Given the description of an element on the screen output the (x, y) to click on. 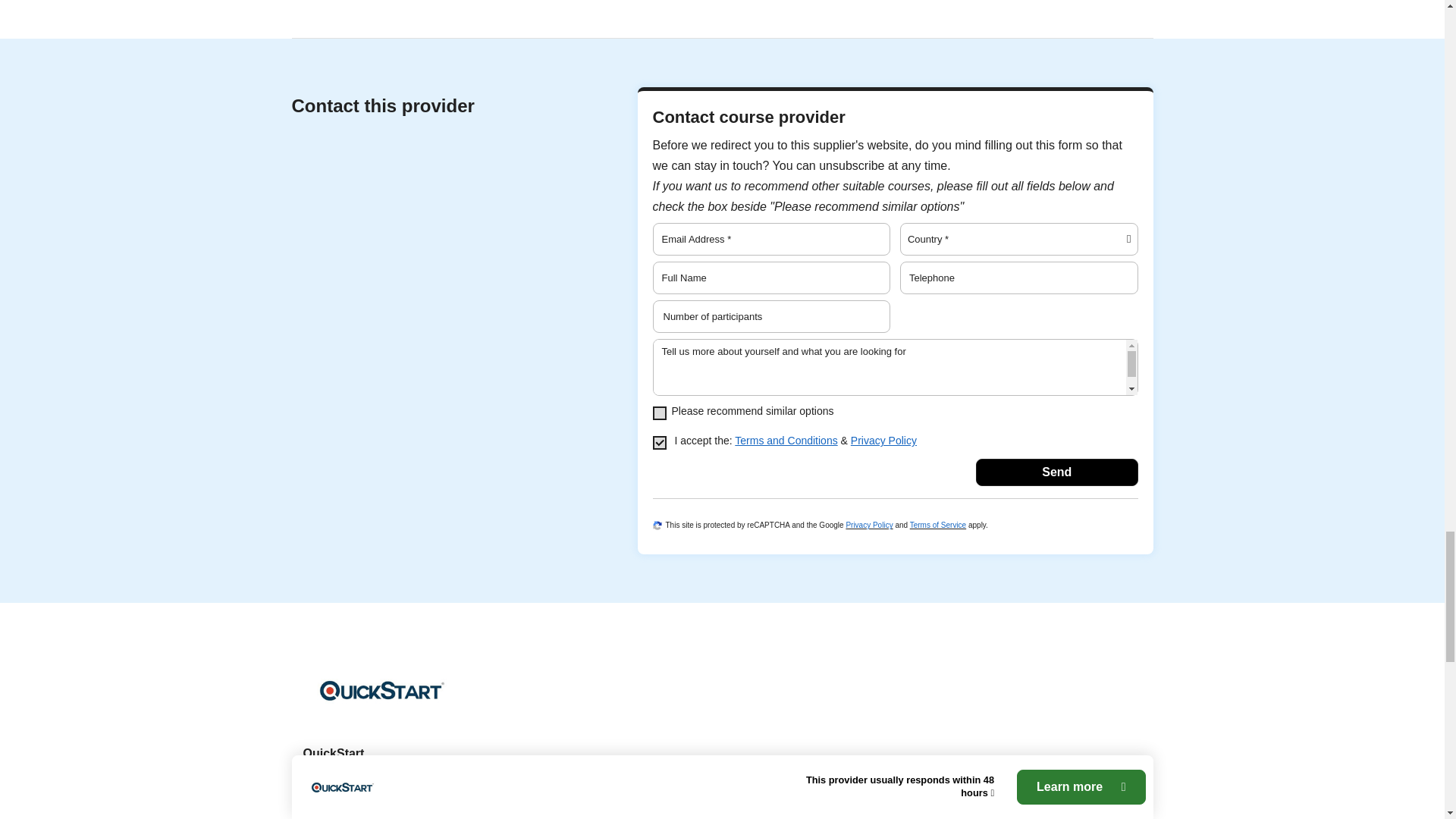
Send (1056, 472)
